Given the description of an element on the screen output the (x, y) to click on. 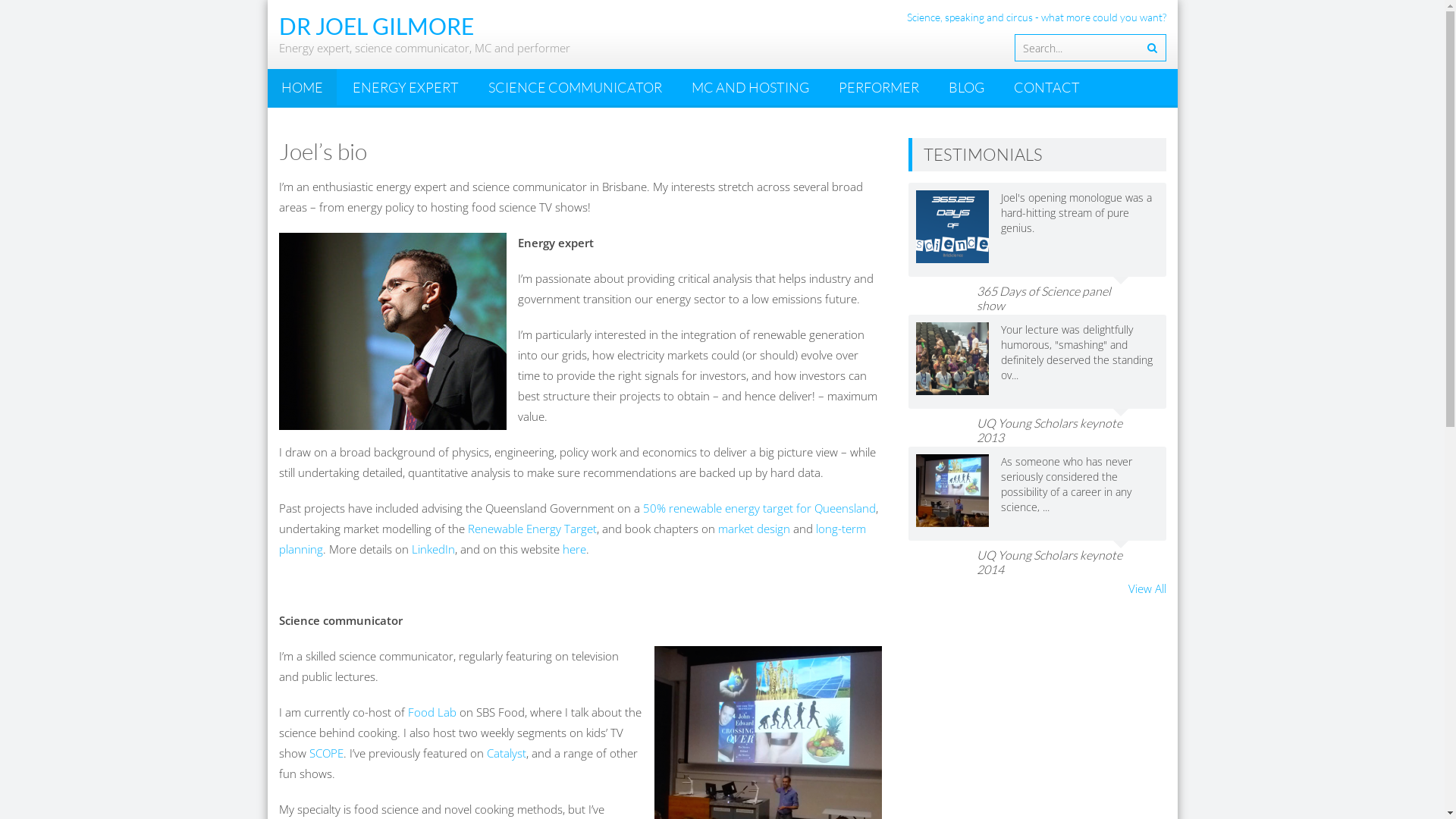
Renewable Energy Target Element type: text (531, 528)
MC AND HOSTING Element type: text (749, 87)
Food Lab Element type: text (433, 711)
PERFORMER Element type: text (878, 87)
Catalyst Element type: text (506, 752)
View All Element type: text (1147, 588)
BLOG Element type: text (965, 87)
market design Element type: text (753, 528)
ENERGY EXPERT Element type: text (404, 87)
here Element type: text (574, 548)
HOME Element type: text (300, 87)
LinkedIn Element type: text (432, 548)
SCOPE Element type: text (326, 752)
CONTACT Element type: text (1045, 87)
long-term planning Element type: text (572, 538)
50% renewable energy target for Queensland Element type: text (759, 507)
SCIENCE COMMUNICATOR Element type: text (574, 87)
